Given the description of an element on the screen output the (x, y) to click on. 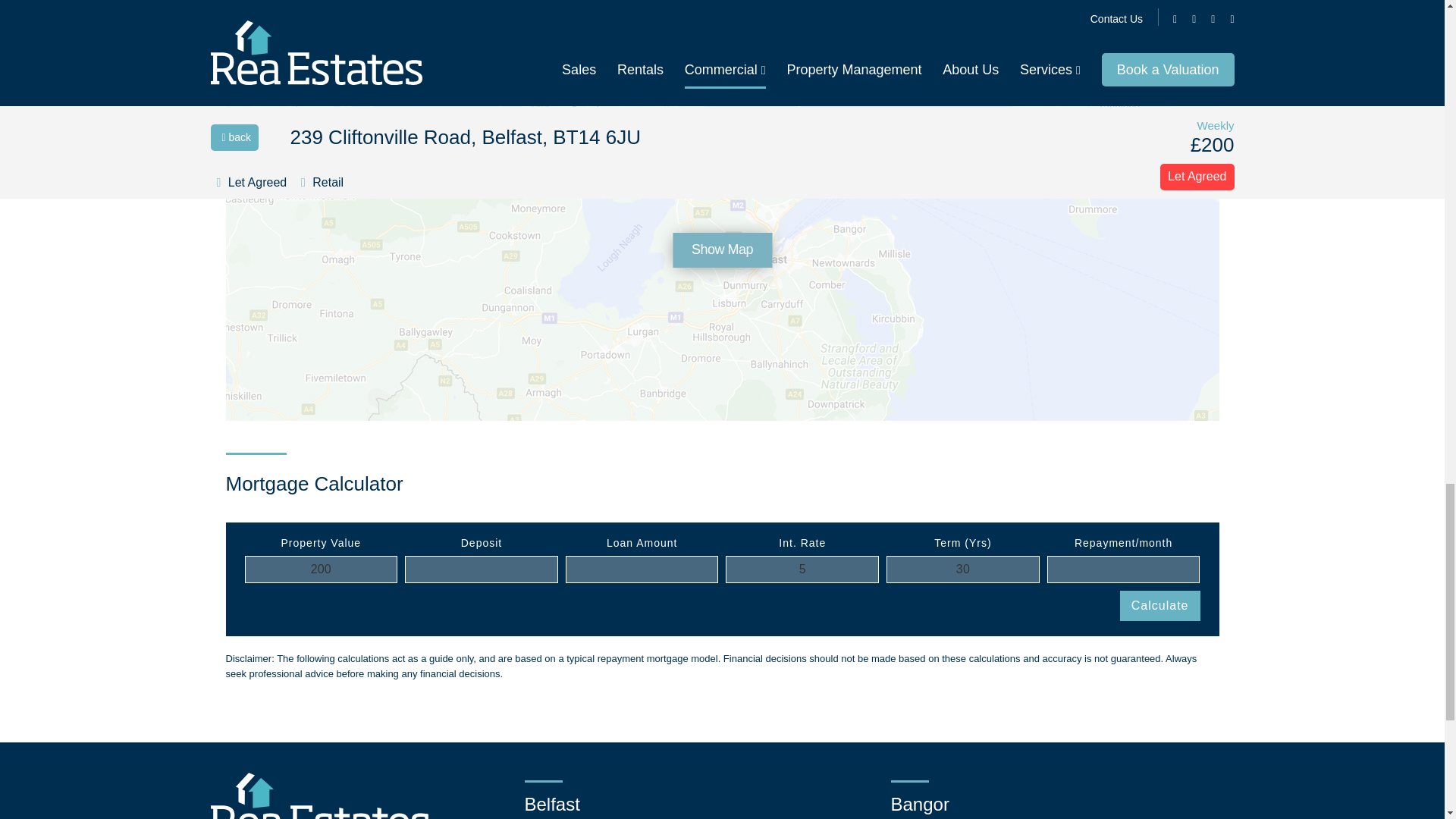
30 (962, 569)
5 (802, 569)
Rea Estates (320, 796)
200 (320, 569)
Calculate (1159, 605)
